Given the description of an element on the screen output the (x, y) to click on. 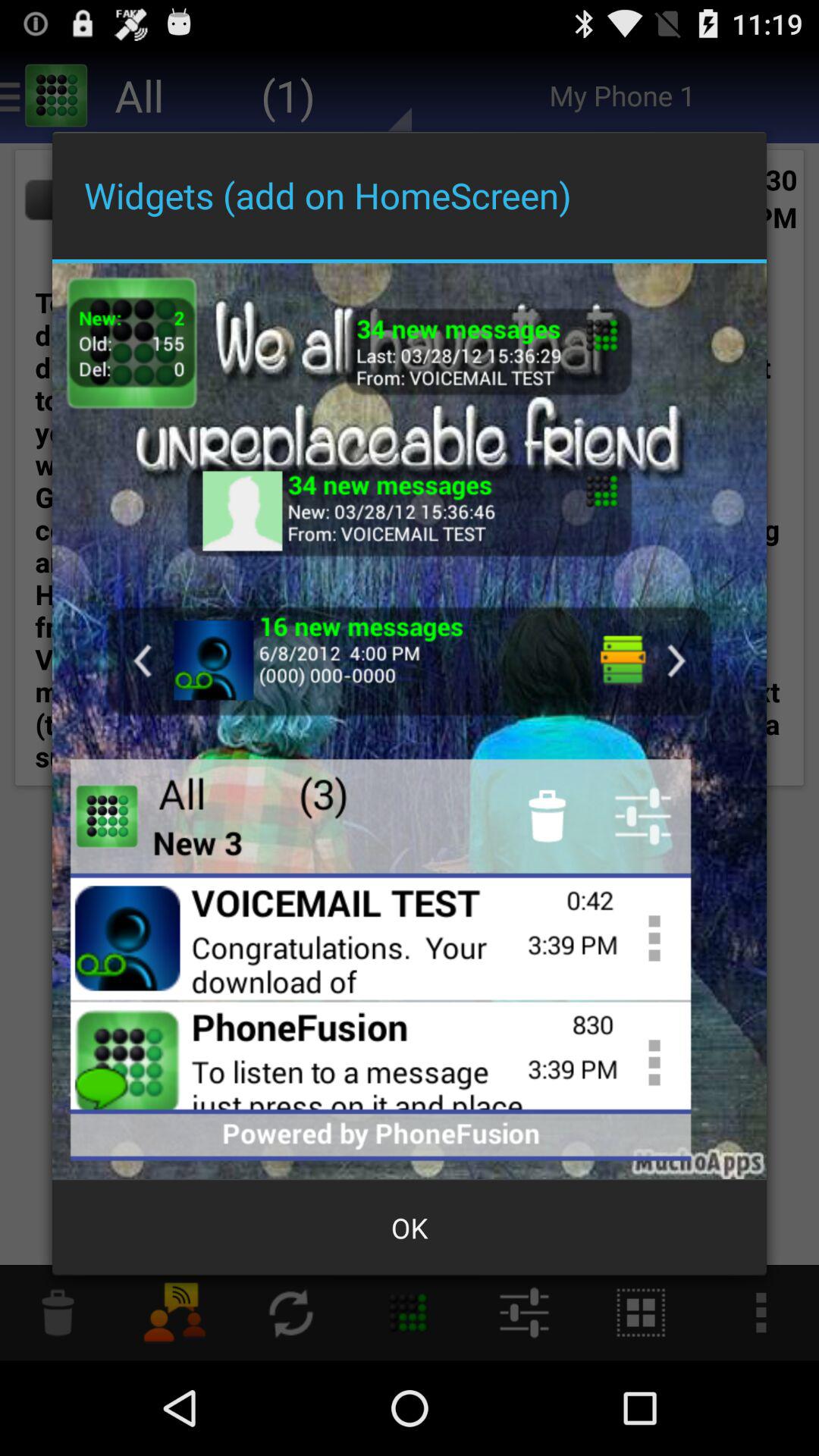
turn off the ok at the bottom (409, 1227)
